Given the description of an element on the screen output the (x, y) to click on. 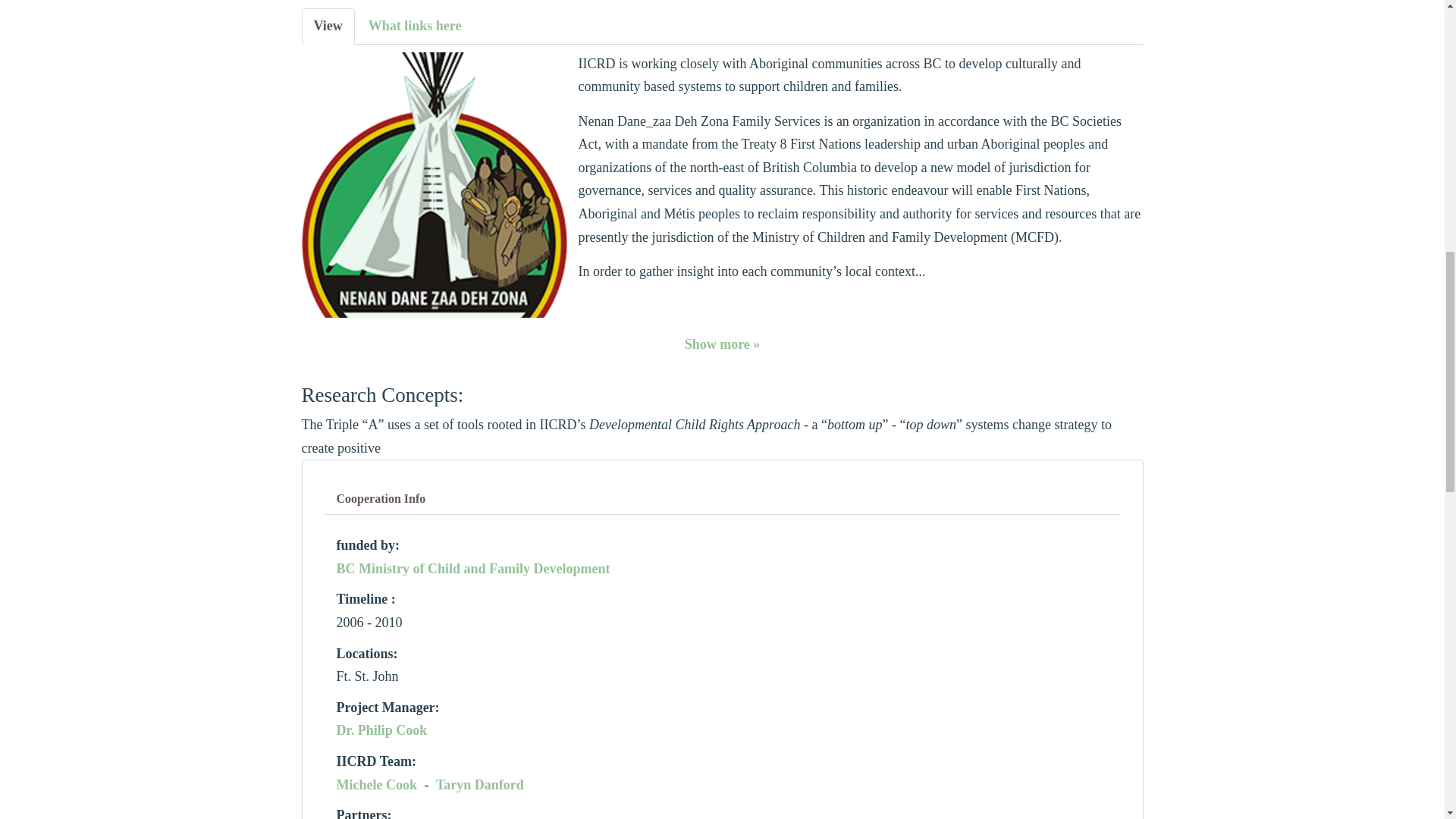
Michele Cook (376, 784)
Dr. Philip Cook (721, 498)
BC Ministry of Child and Family Development (382, 729)
What links here (473, 568)
